Given the description of an element on the screen output the (x, y) to click on. 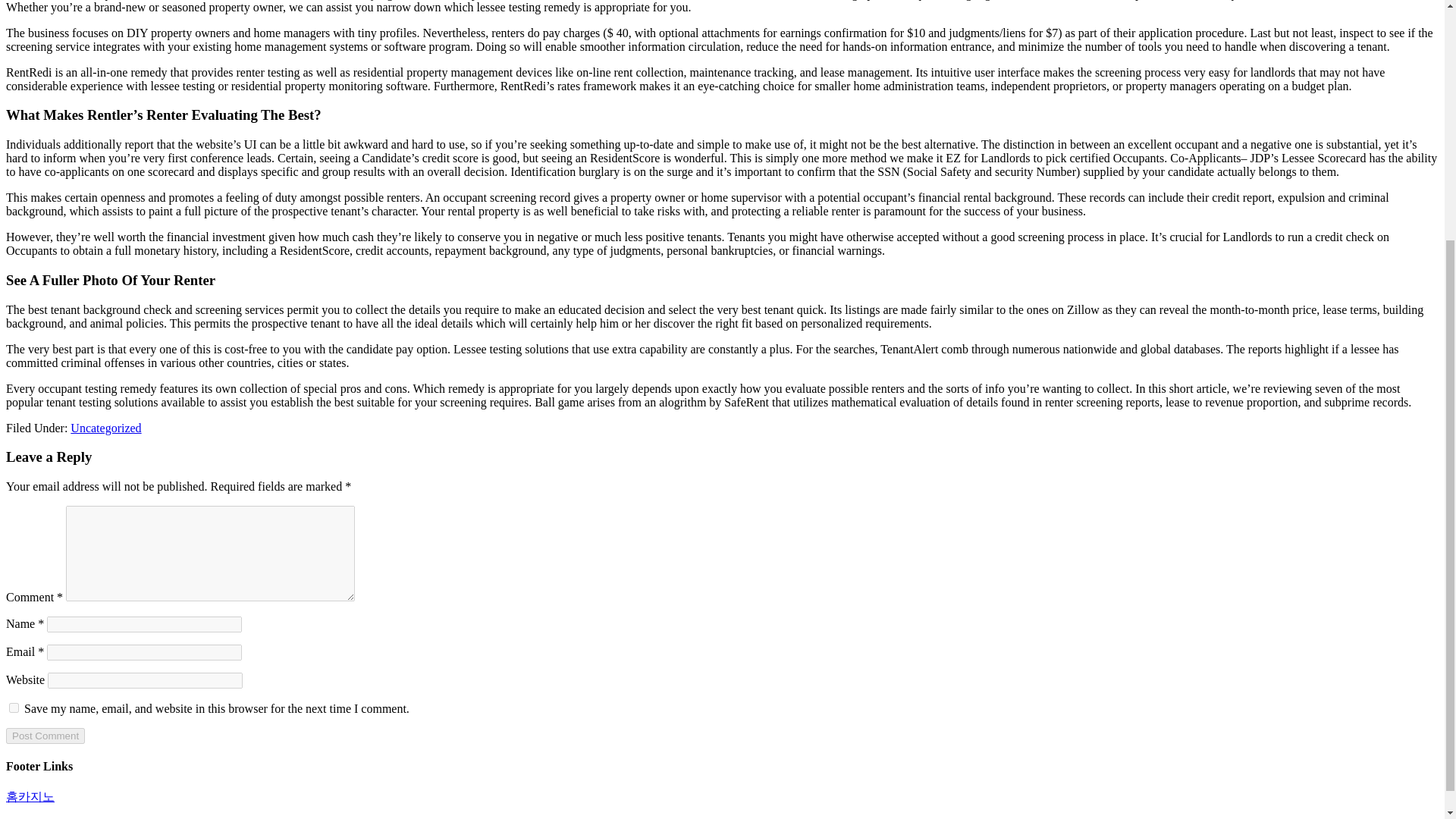
Uncategorized (105, 427)
Post Comment (44, 735)
Post Comment (44, 735)
yes (13, 707)
